Given the description of an element on the screen output the (x, y) to click on. 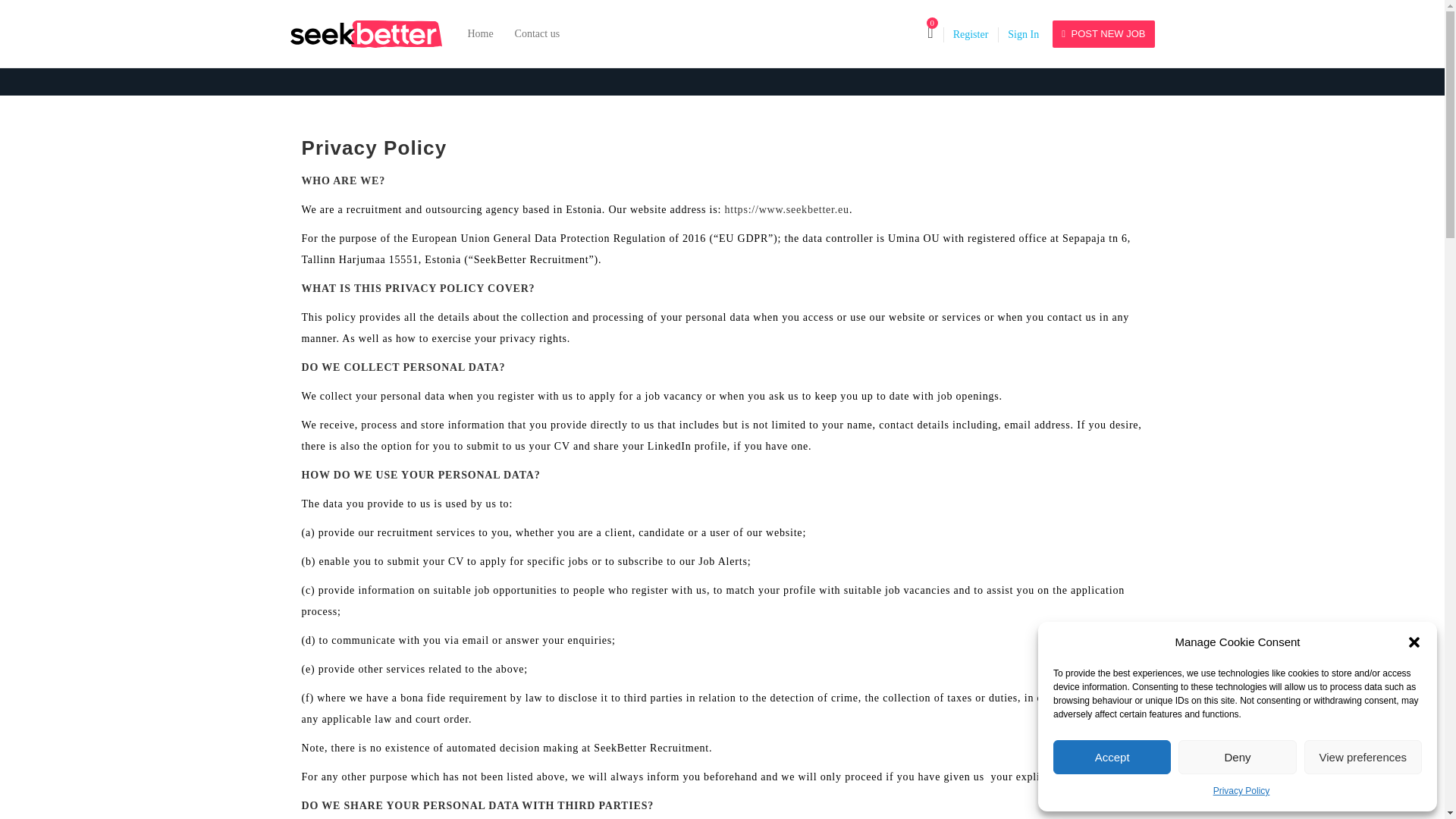
Privacy Policy (1240, 791)
Register (970, 34)
View preferences (1363, 756)
Deny (1236, 756)
Accept (1111, 756)
POST NEW JOB (1103, 32)
Seek Better Jobs (373, 33)
Sign In (1023, 34)
